Given the description of an element on the screen output the (x, y) to click on. 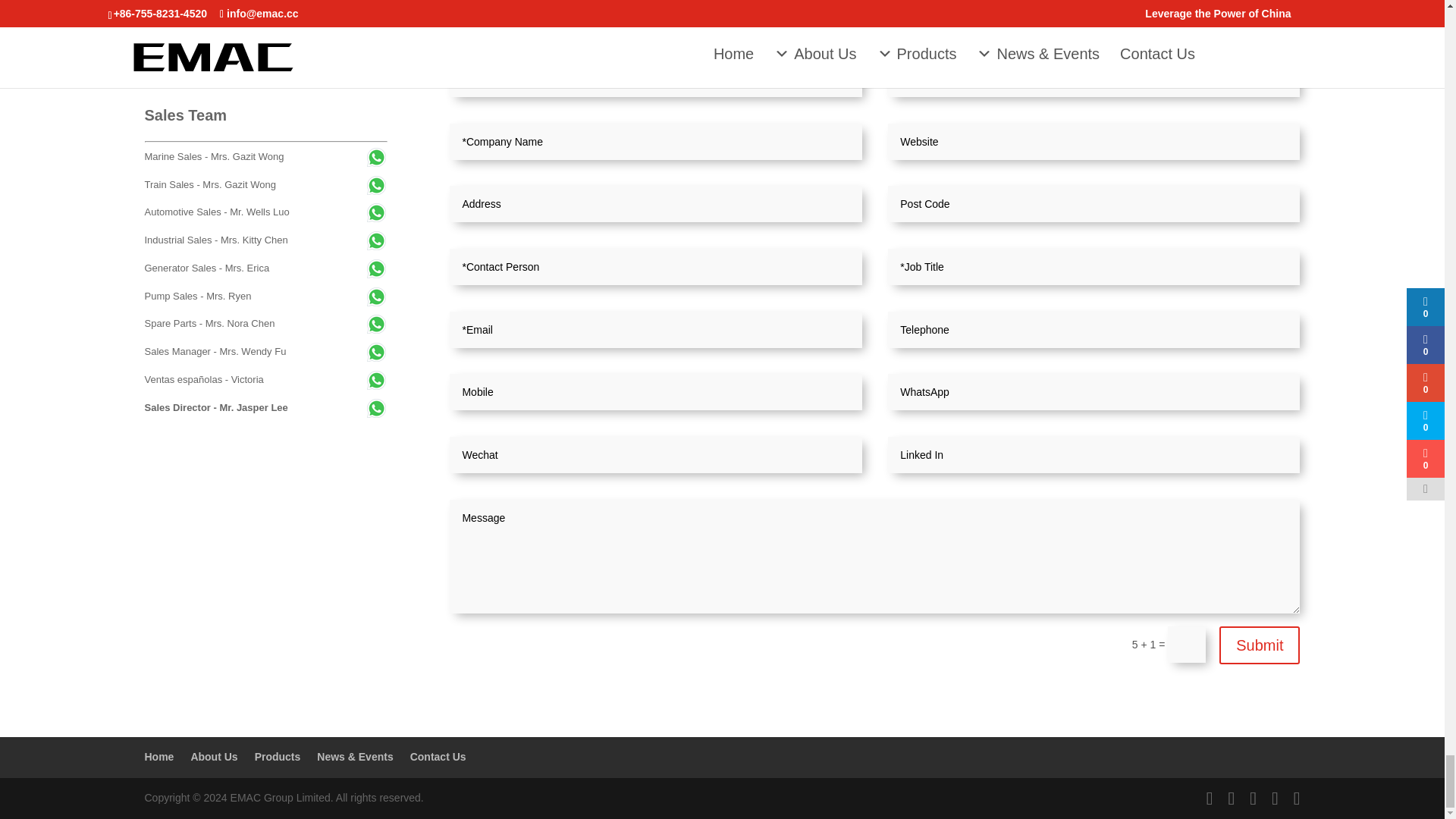
WhatsApp-Online-logo-4 (257, 32)
